Given the description of an element on the screen output the (x, y) to click on. 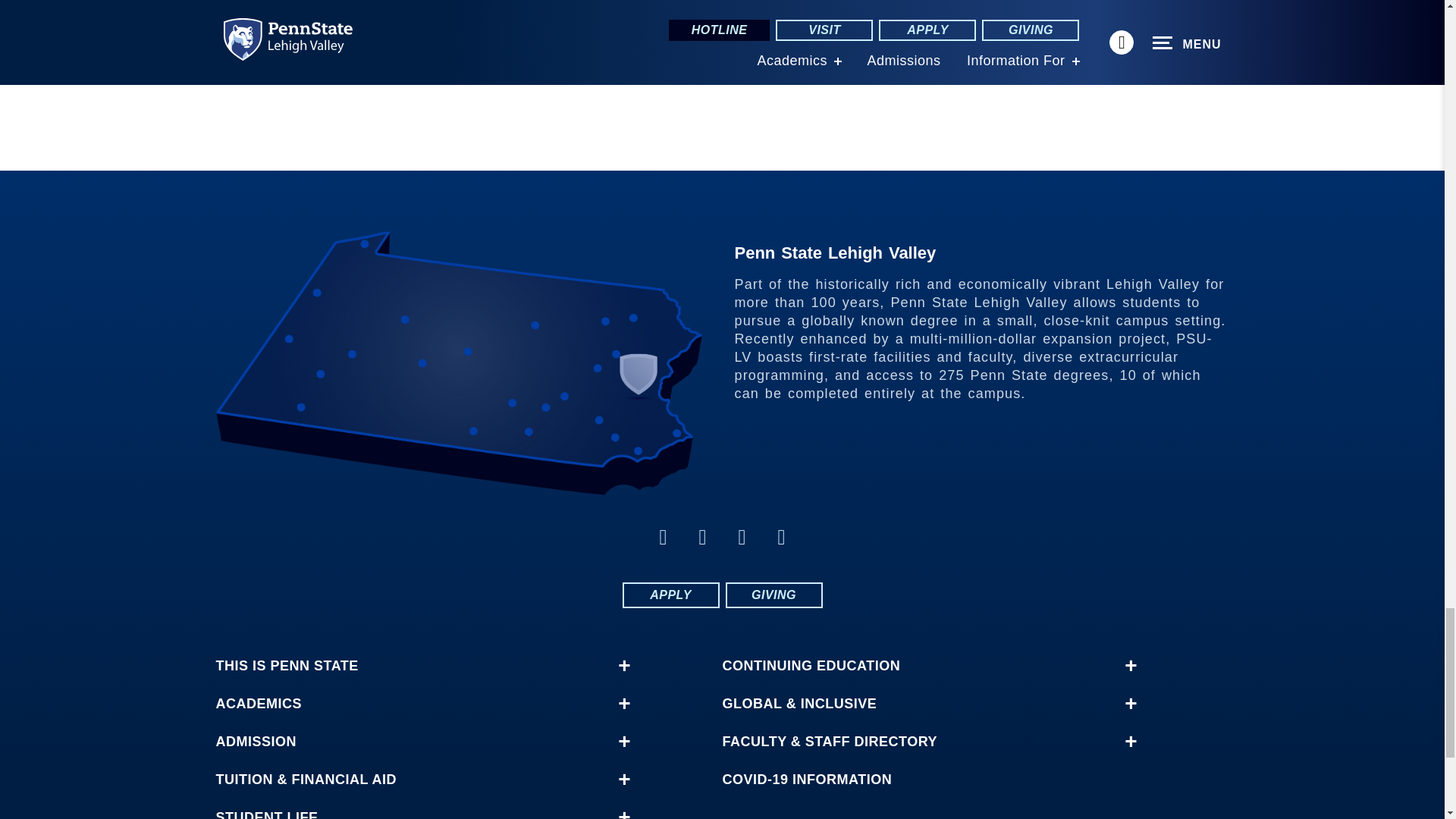
instagram (702, 536)
linkedin (741, 536)
facebook (662, 536)
youtube (781, 536)
